Given the description of an element on the screen output the (x, y) to click on. 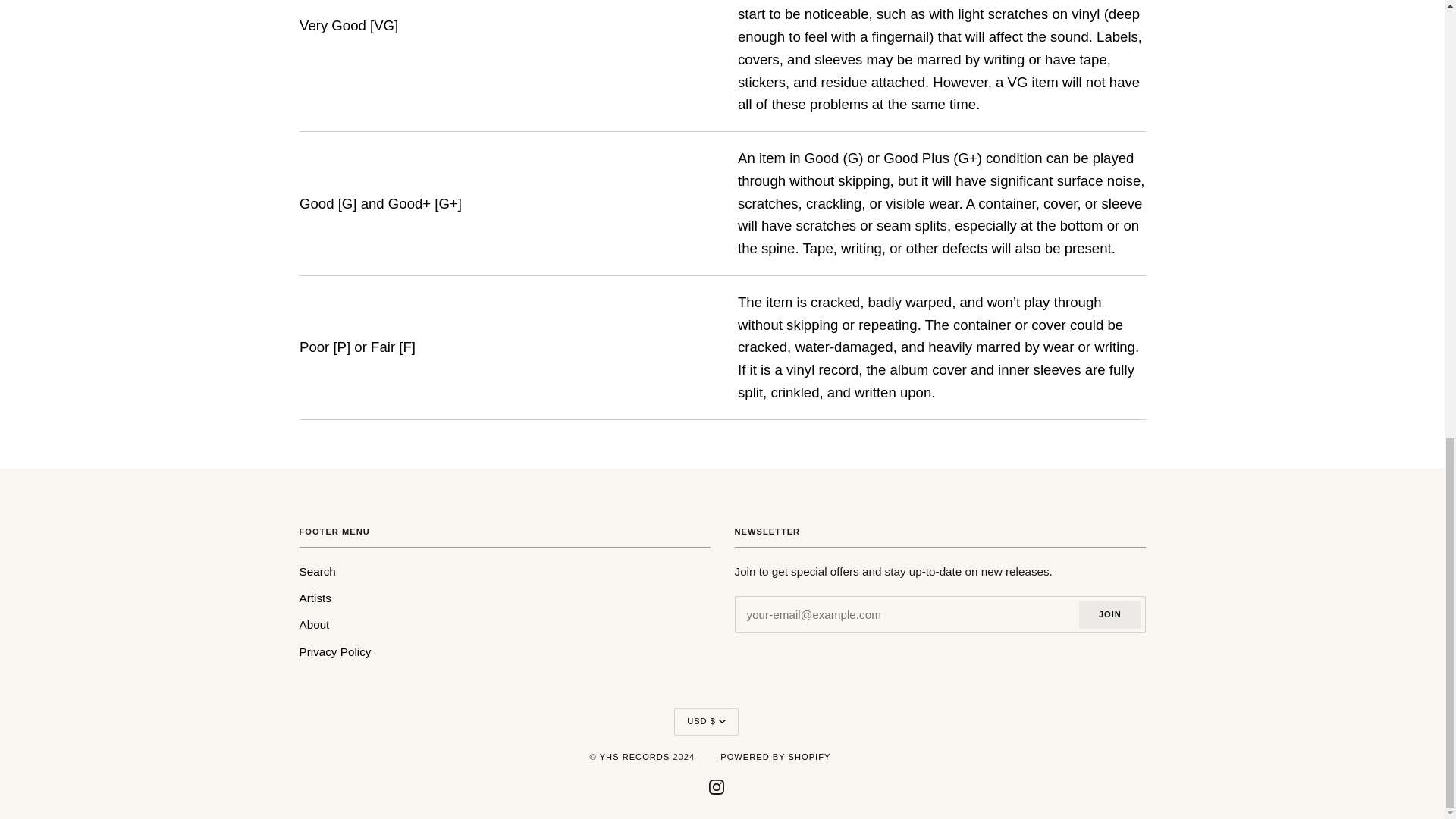
Instagram (715, 786)
